Given the description of an element on the screen output the (x, y) to click on. 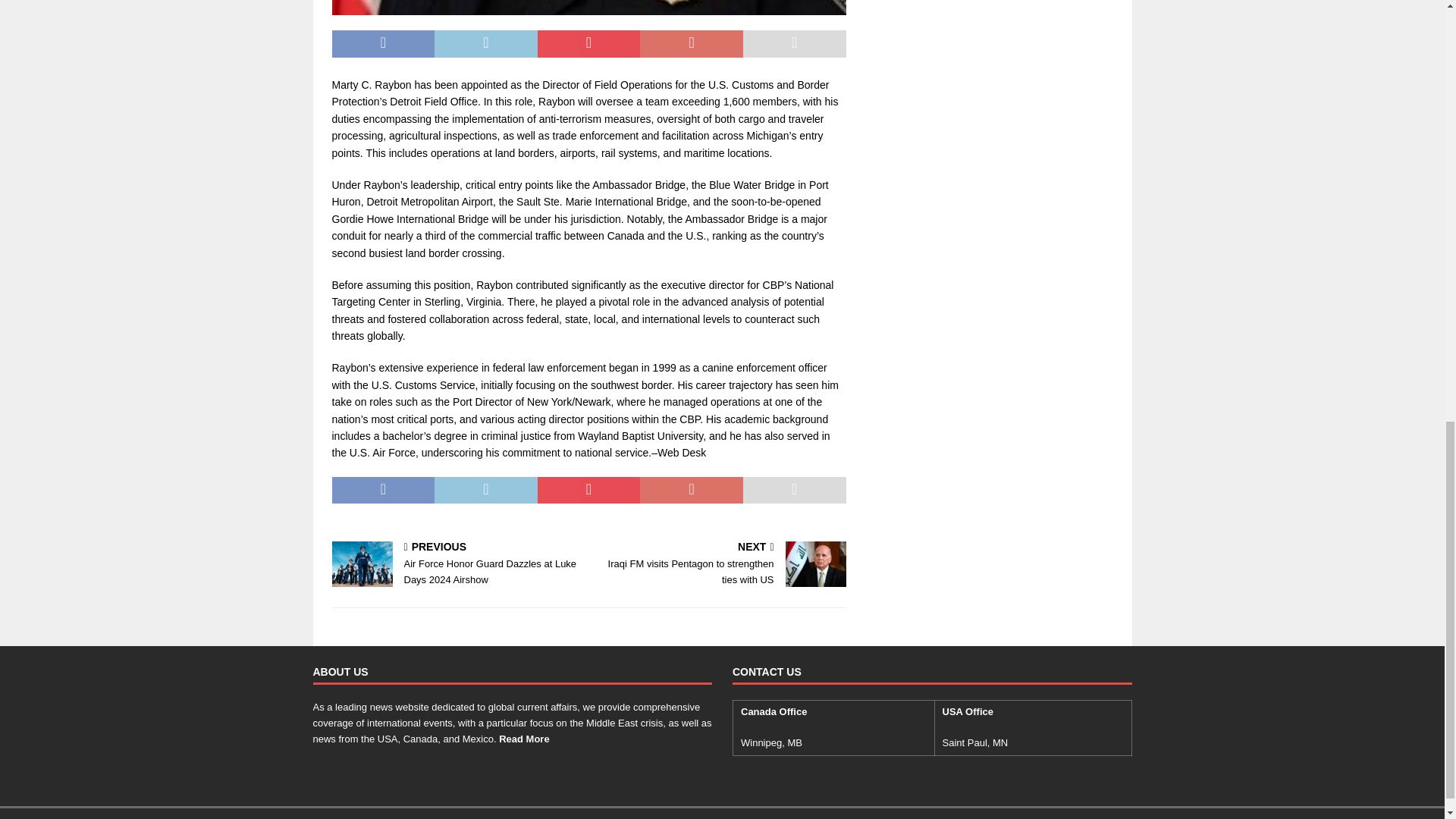
Marty C. Raybon CBP (588, 7)
